Given the description of an element on the screen output the (x, y) to click on. 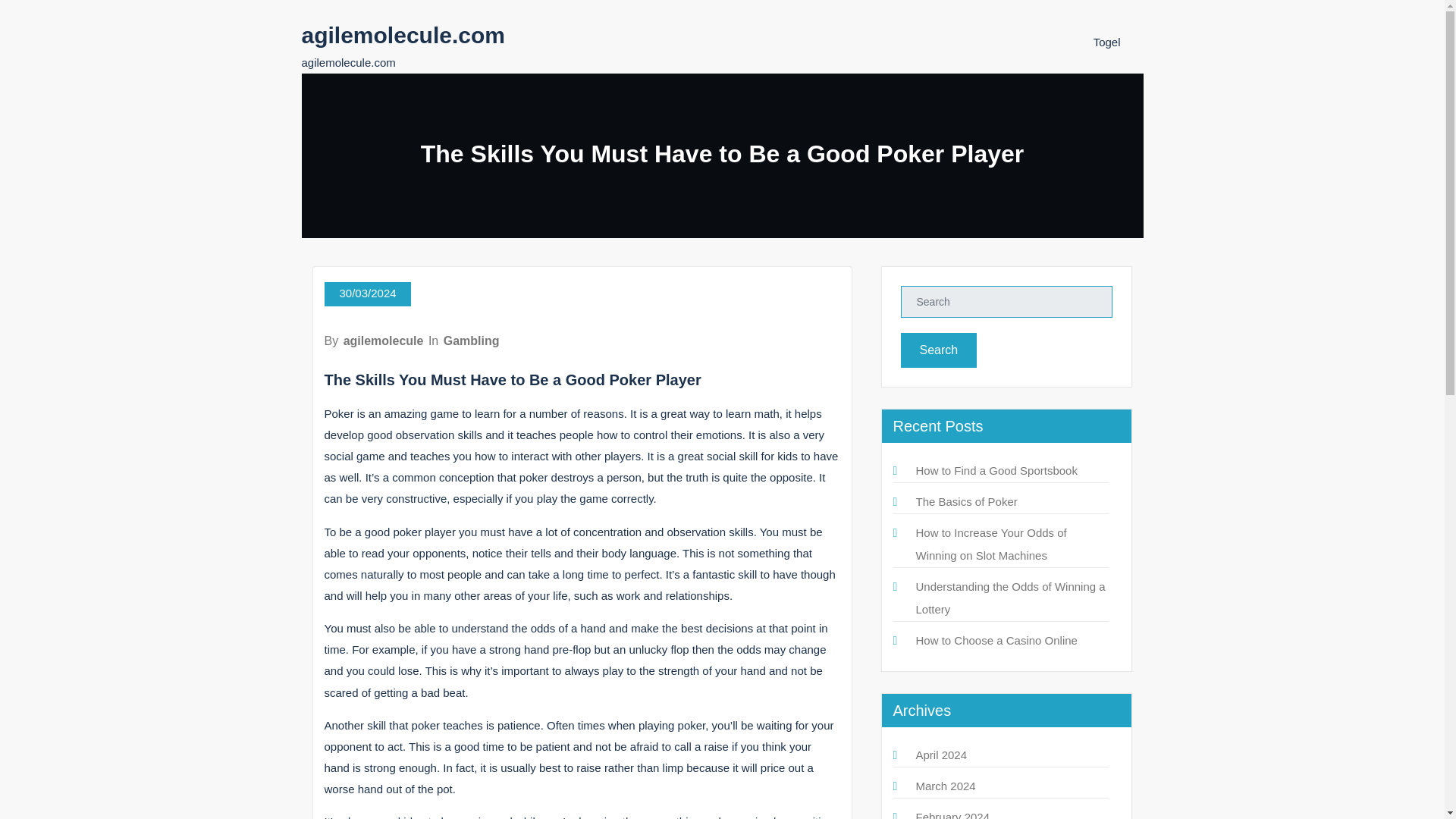
February 2024 (952, 814)
Understanding the Odds of Winning a Lottery (1010, 597)
agilemolecule.com (403, 34)
How to Find a Good Sportsbook (996, 470)
The Basics of Poker (966, 501)
Gambling (471, 340)
How to Increase Your Odds of Winning on Slot Machines (991, 543)
March 2024 (945, 785)
agilemolecule (383, 340)
April 2024 (941, 754)
